Given the description of an element on the screen output the (x, y) to click on. 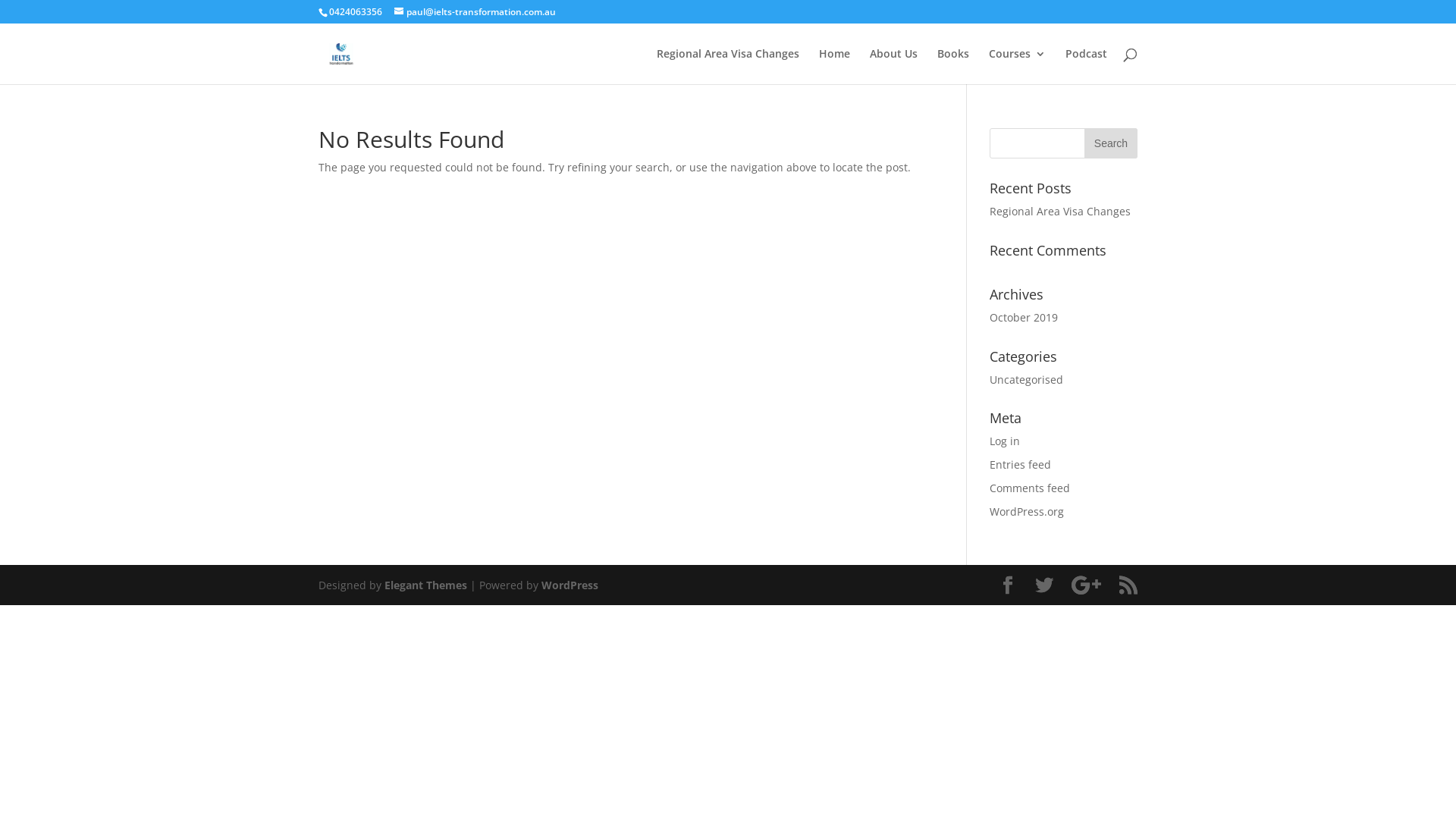
Elegant Themes Element type: text (425, 584)
Entries feed Element type: text (1020, 464)
Uncategorised Element type: text (1026, 379)
Home Element type: text (834, 66)
Regional Area Visa Changes Element type: text (1059, 210)
Regional Area Visa Changes Element type: text (727, 66)
Comments feed Element type: text (1029, 487)
Log in Element type: text (1004, 440)
Podcast Element type: text (1086, 66)
Search Element type: text (1110, 143)
Books Element type: text (953, 66)
WordPress.org Element type: text (1026, 511)
paul@ielts-transformation.com.au Element type: text (474, 11)
Courses Element type: text (1016, 66)
About Us Element type: text (893, 66)
WordPress Element type: text (569, 584)
October 2019 Element type: text (1023, 317)
